Given the description of an element on the screen output the (x, y) to click on. 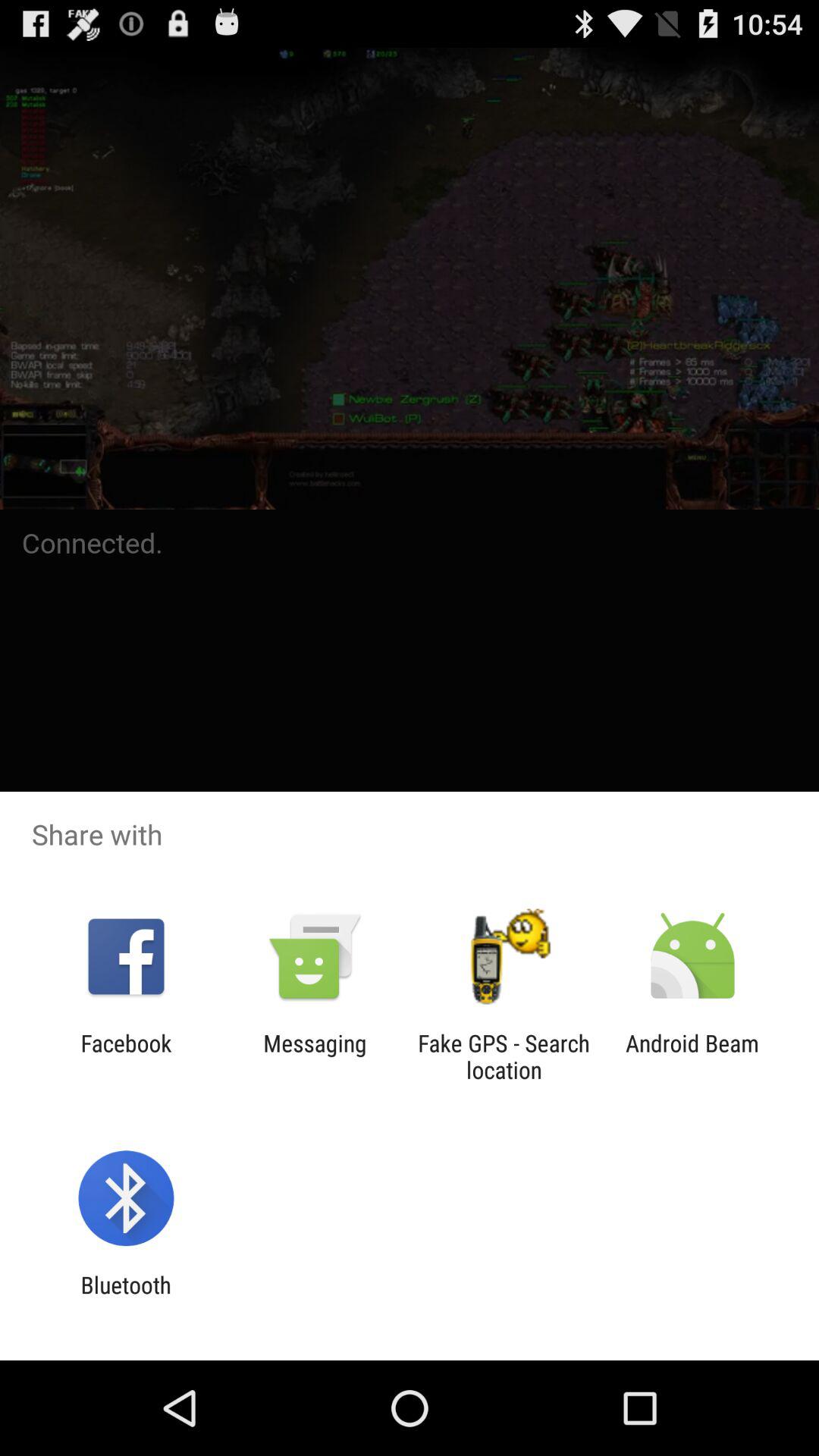
launch the app to the right of fake gps search (692, 1056)
